Given the description of an element on the screen output the (x, y) to click on. 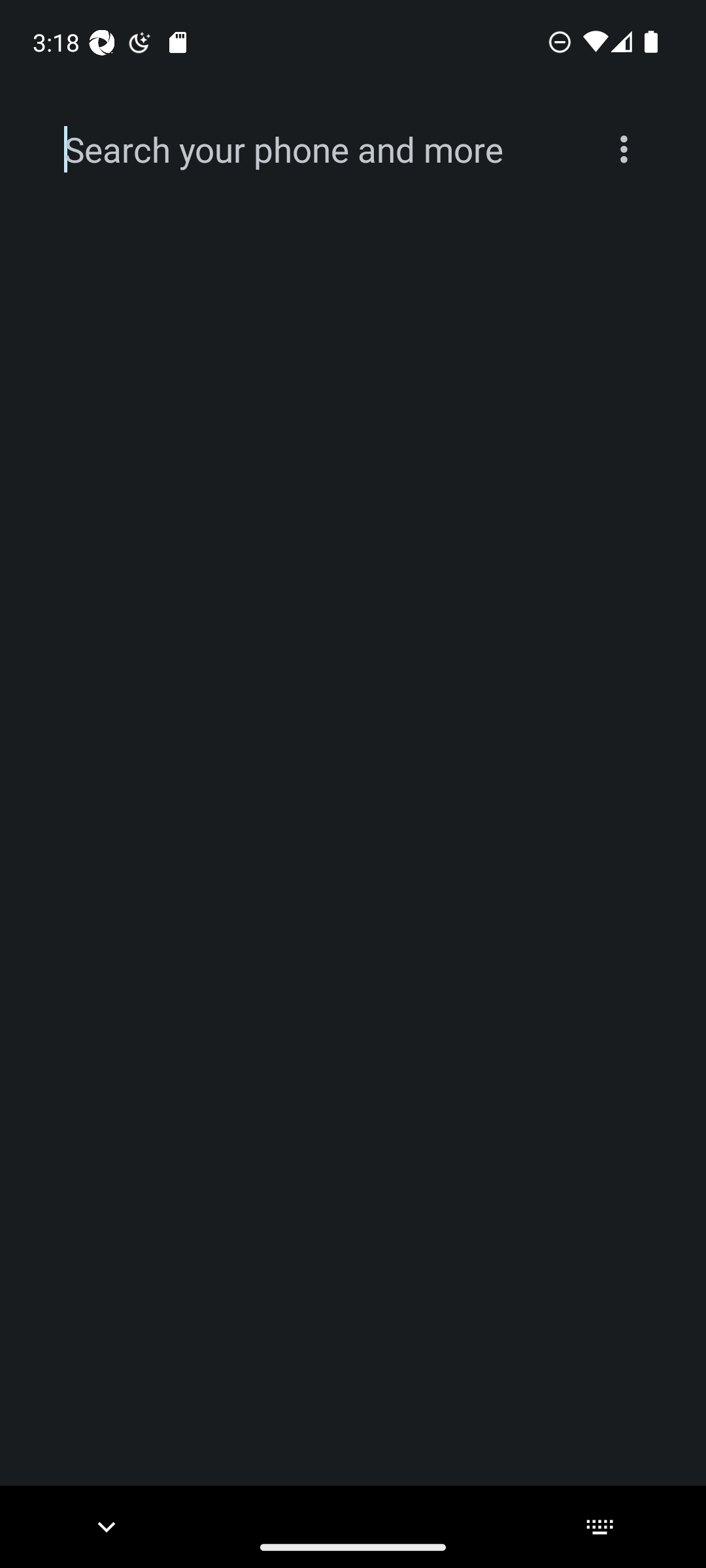
Search your phone and more (321, 149)
Preferences (623, 149)
